Given the description of an element on the screen output the (x, y) to click on. 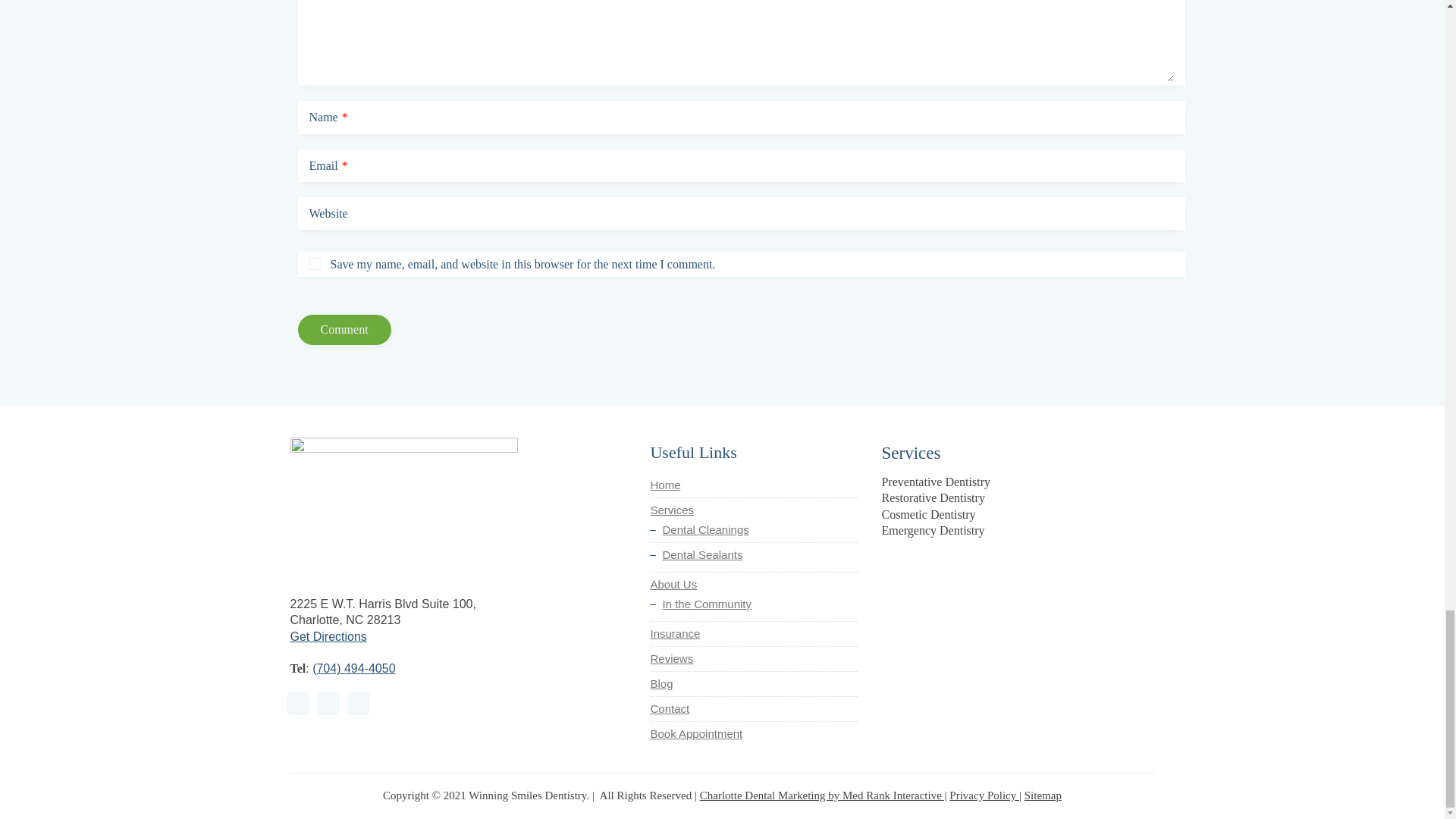
Yelp (358, 703)
yes (314, 263)
Instagram (328, 703)
Facebook (297, 703)
Comment (343, 329)
